Given the description of an element on the screen output the (x, y) to click on. 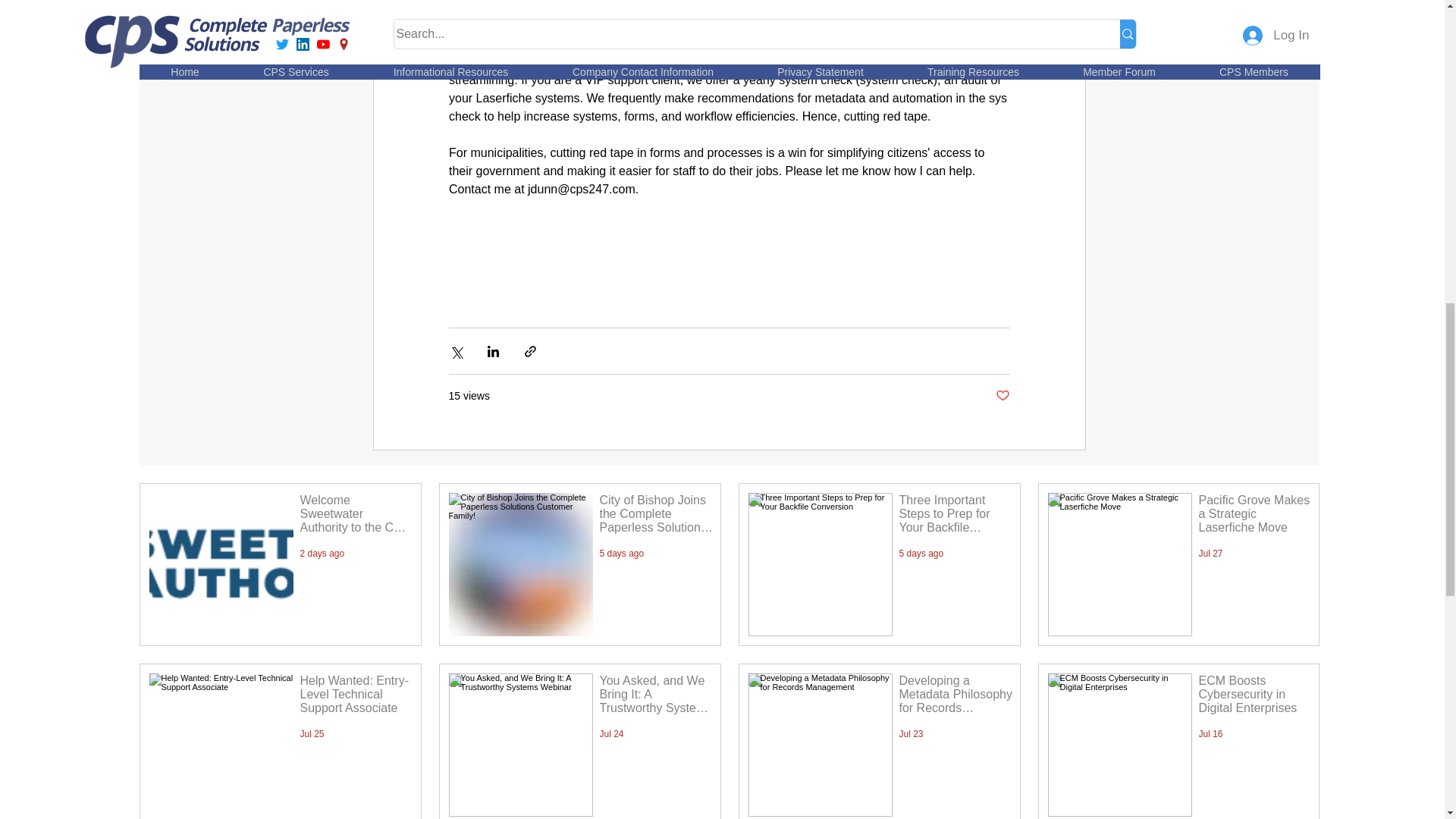
Jul 23 (911, 733)
Jul 27 (1210, 552)
Pacific Grove Makes a Strategic Laserfiche Move (1254, 516)
Developing a Metadata Philosophy for Records Management (956, 697)
Jul 25 (311, 733)
ECM Boosts Cybersecurity in Digital Enterprises (1254, 697)
You Asked, and We Bring It: A Trustworthy Systems Webinar (655, 697)
Welcome Sweetwater Authority to the CPS Family! (356, 516)
Post not marked as liked (1001, 396)
2 days ago (322, 552)
5 days ago (620, 552)
Three Important Steps to Prep for Your Backfile Conversion (956, 516)
5 days ago (921, 552)
Jul 16 (1210, 733)
